Given the description of an element on the screen output the (x, y) to click on. 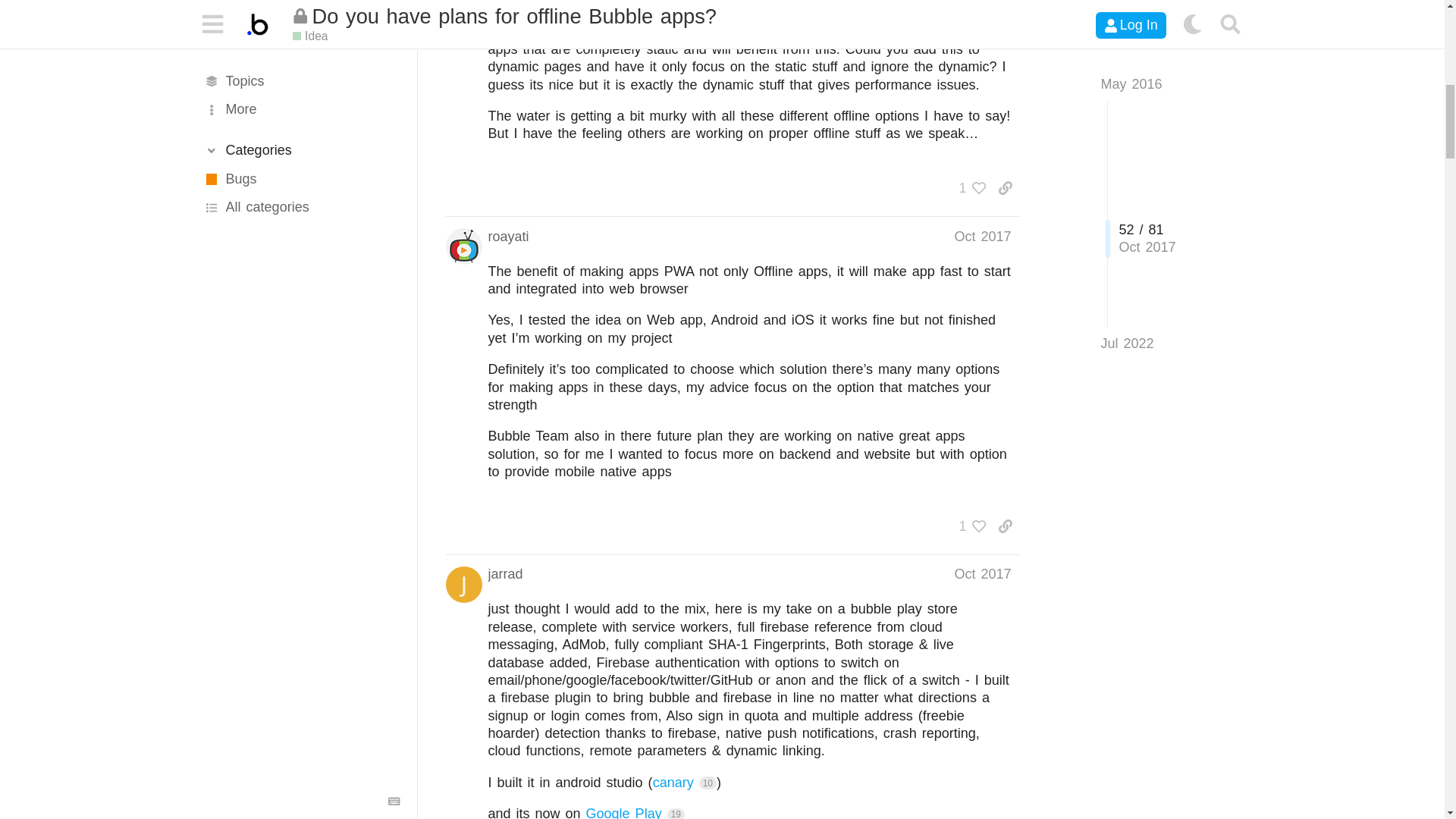
Keyboard Shortcuts (394, 31)
